Given the description of an element on the screen output the (x, y) to click on. 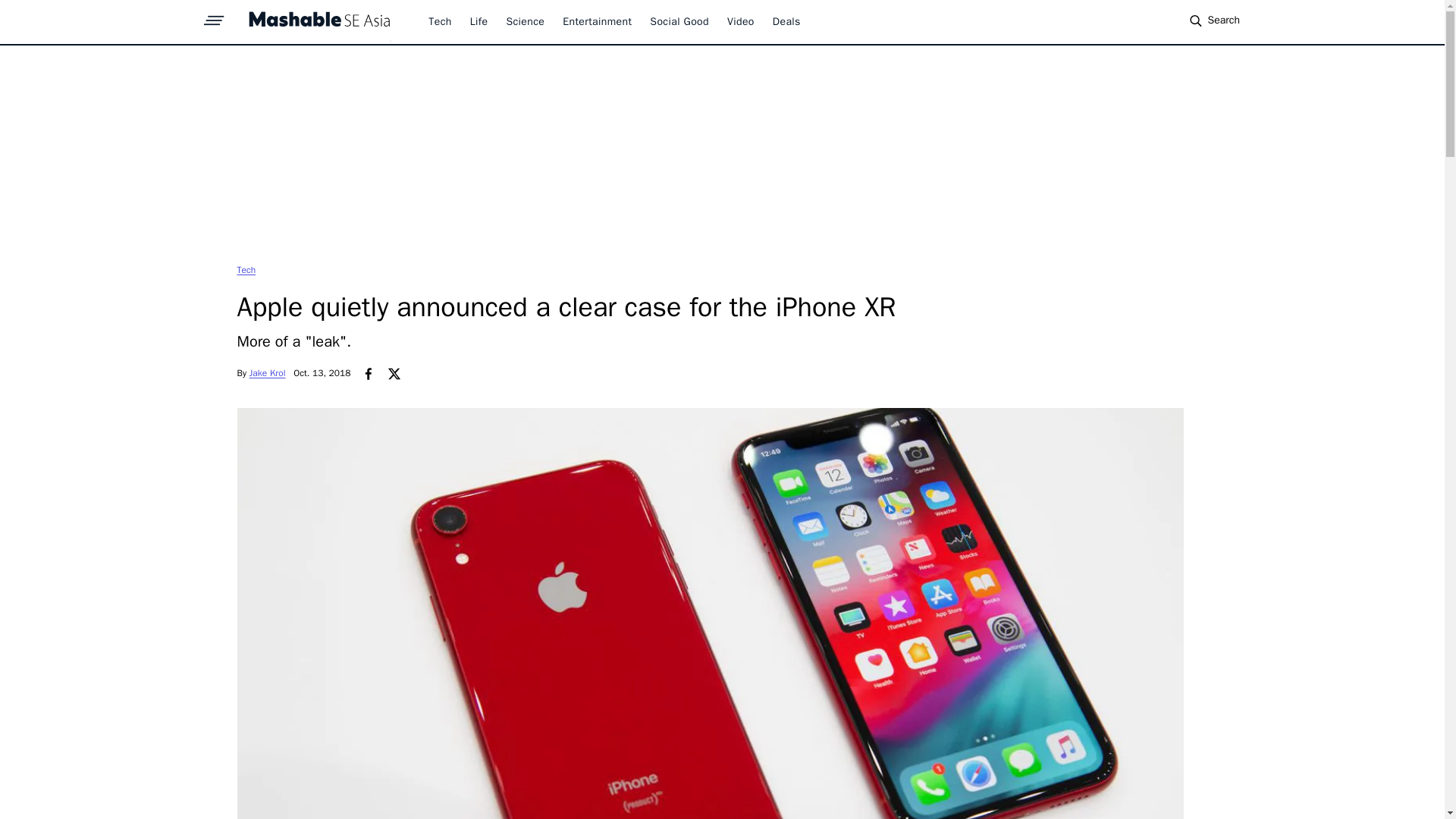
Social Good (679, 21)
Entertainment (596, 21)
Science (524, 21)
Tech (245, 269)
Jake Krol (266, 372)
Deals (786, 21)
sprite-hamburger (213, 16)
Video (740, 21)
Tech (245, 269)
Life (478, 21)
Tech (439, 21)
